Given the description of an element on the screen output the (x, y) to click on. 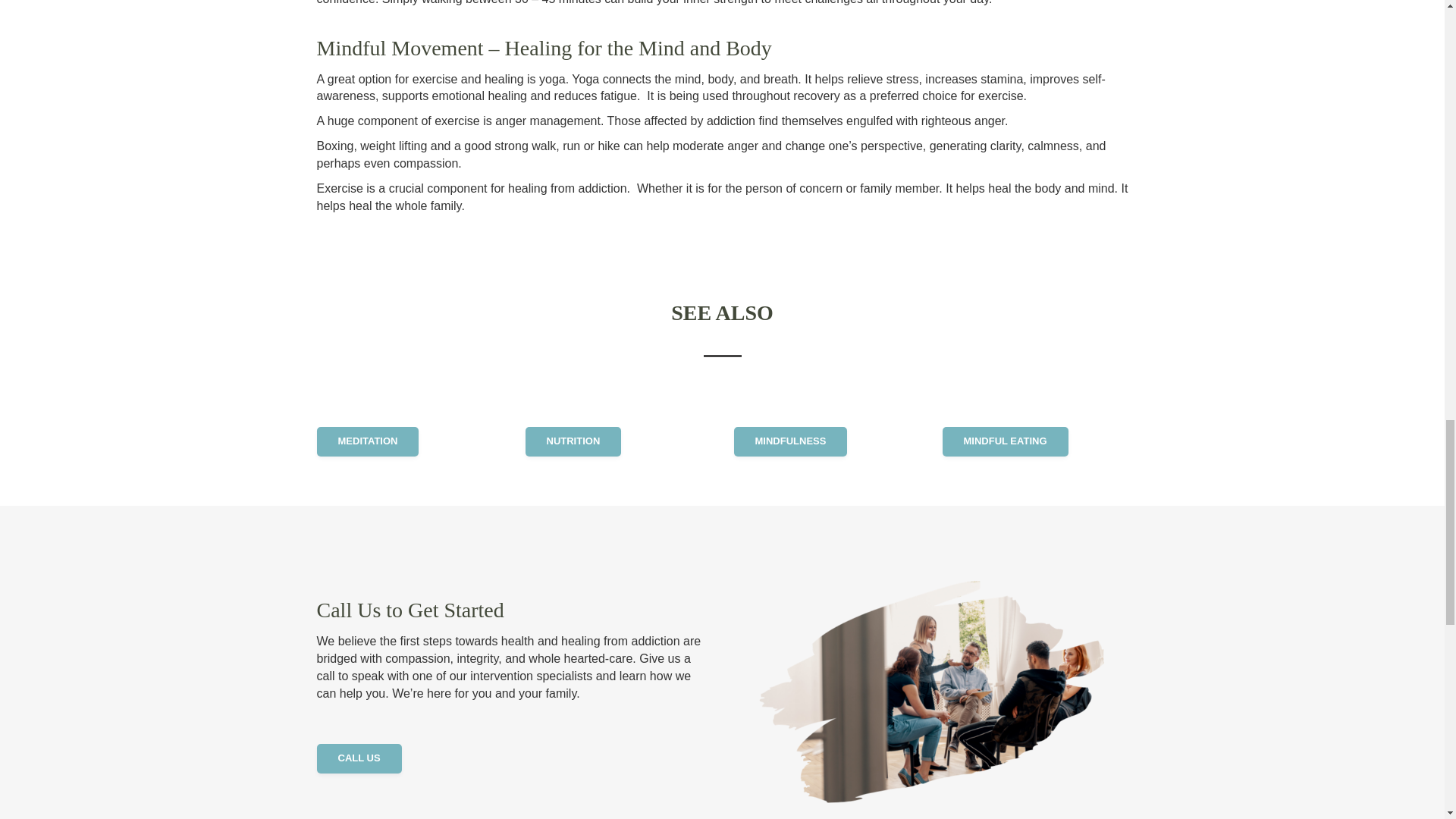
MINDFUL EATING (1004, 441)
NUTRITION (572, 441)
MINDFULNESS (790, 441)
MEDITATION (368, 441)
CALL US (359, 758)
